Given the description of an element on the screen output the (x, y) to click on. 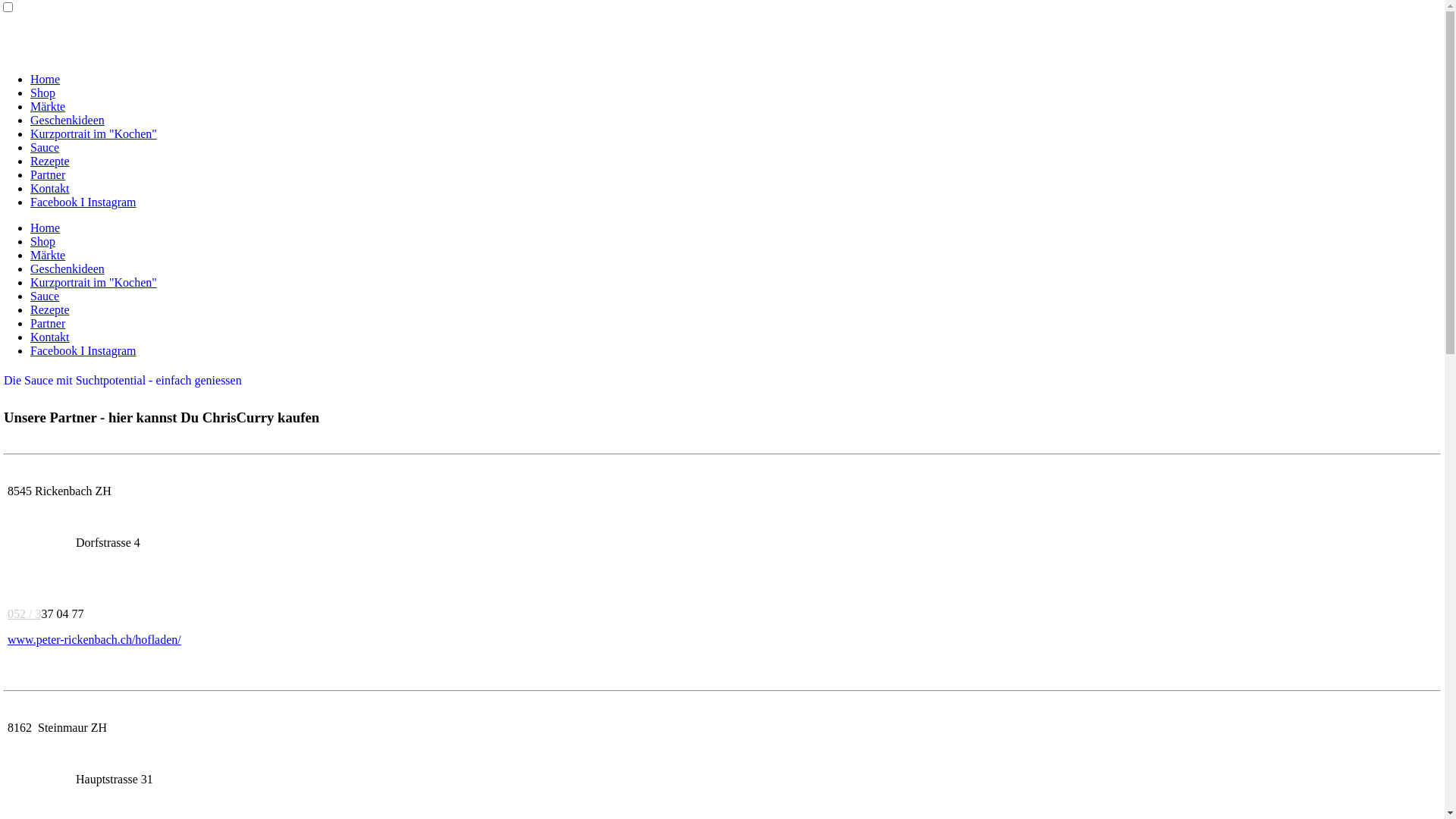
Sauce Element type: text (44, 295)
www.peter-rickenbach.ch/hofladen/ Element type: text (94, 639)
Geschenkideen Element type: text (67, 119)
Geschenkideen Element type: text (67, 268)
052 / 3 Element type: text (23, 613)
Sauce Element type: text (44, 147)
Kurzportrait im "Kochen" Element type: text (93, 282)
Facebook I Instagram Element type: text (83, 201)
Partner Element type: text (47, 174)
Die Sauce mit Suchtpotential - einfach geniessen Element type: text (122, 379)
Facebook I Instagram Element type: text (83, 350)
Kontakt Element type: text (49, 188)
Kurzportrait im "Kochen" Element type: text (93, 133)
Home Element type: text (44, 78)
Kontakt Element type: text (49, 336)
Partner Element type: text (47, 322)
Rezepte Element type: text (49, 160)
Shop Element type: text (42, 241)
Rezepte Element type: text (49, 309)
Shop Element type: text (42, 92)
Home Element type: text (44, 227)
